Given the description of an element on the screen output the (x, y) to click on. 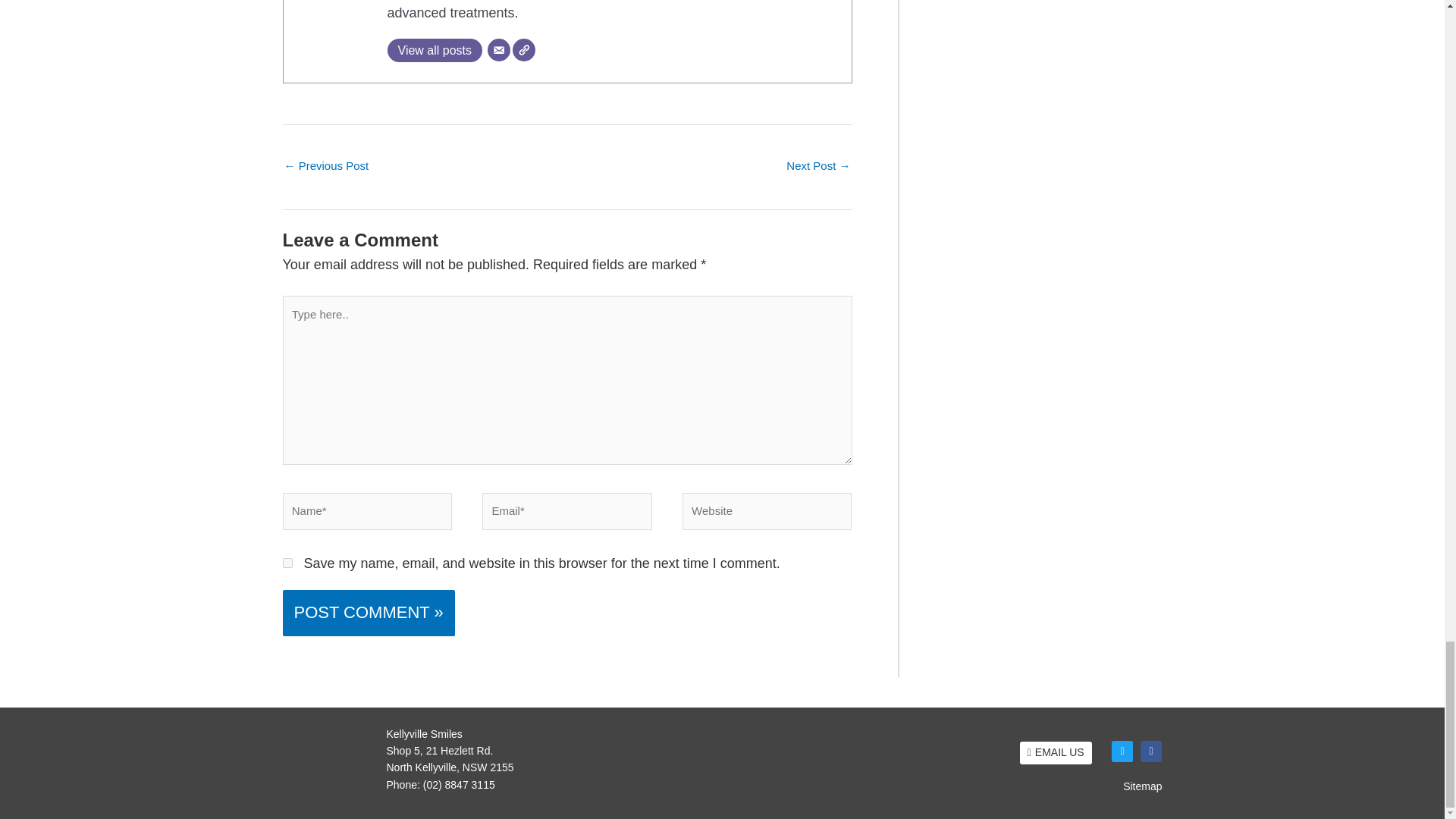
How To Get Children Started On Dental Care (325, 166)
Which Is The Best Dental Filling For Your Tooth? (818, 166)
yes (287, 562)
View all posts (434, 50)
